Given the description of an element on the screen output the (x, y) to click on. 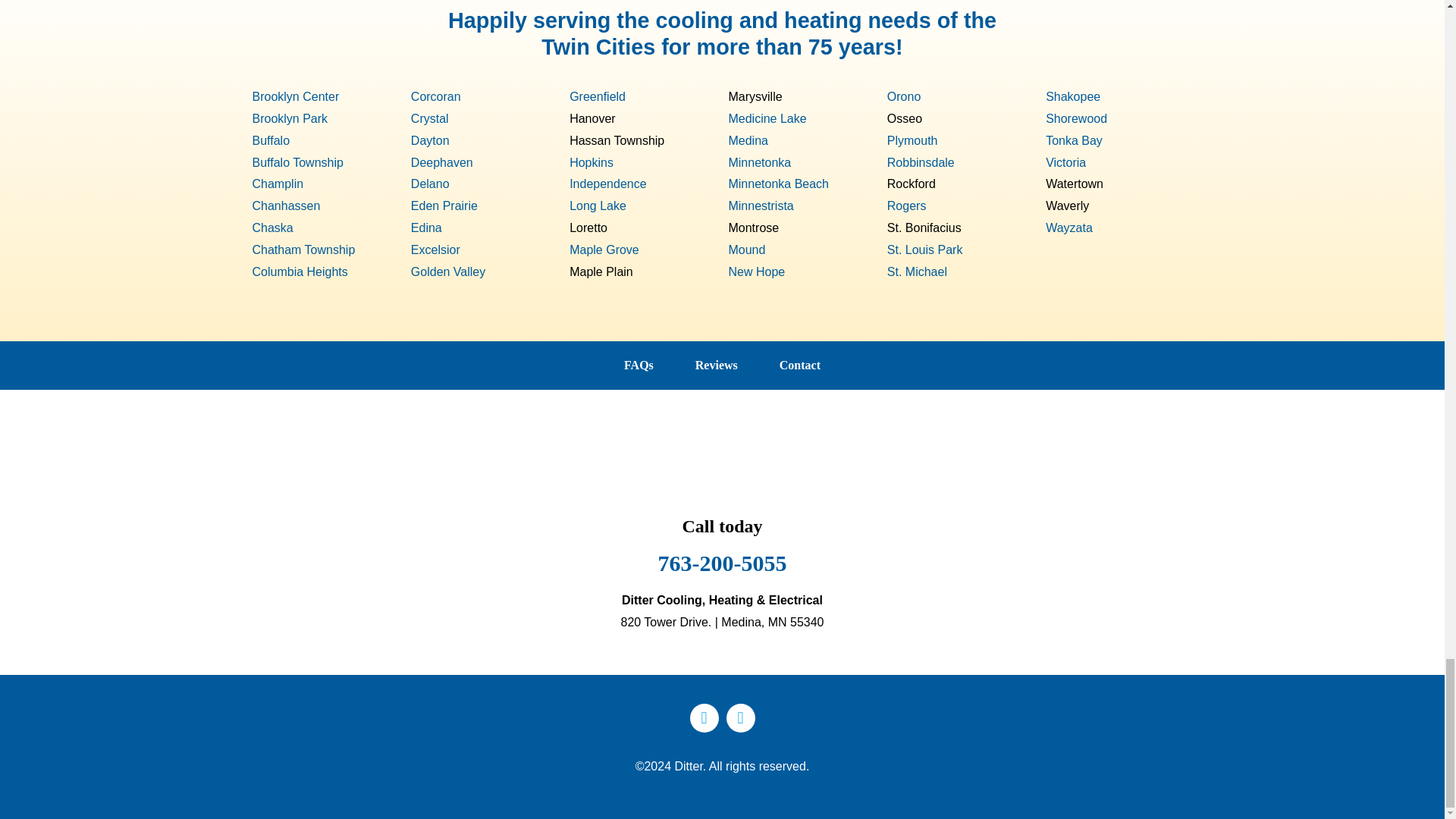
Path 5832 (416, 25)
Instagram (740, 717)
Path 5832 (1028, 25)
Facebook (704, 717)
DitterLogo-3C (722, 450)
